Given the description of an element on the screen output the (x, y) to click on. 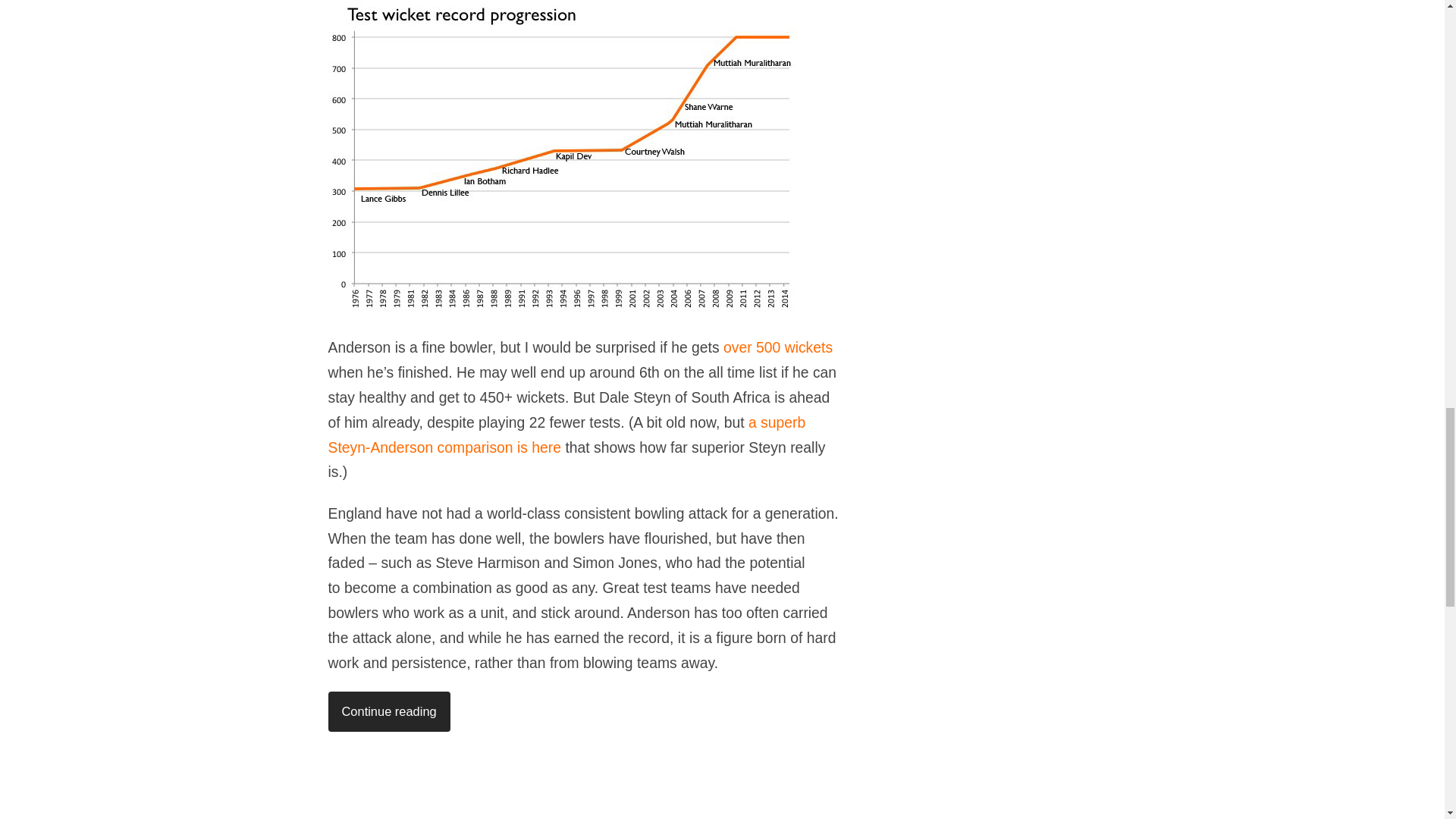
over 500 wickets (777, 347)
a superb Steyn-Anderson comparison is here (566, 434)
Continue reading (388, 711)
